Given the description of an element on the screen output the (x, y) to click on. 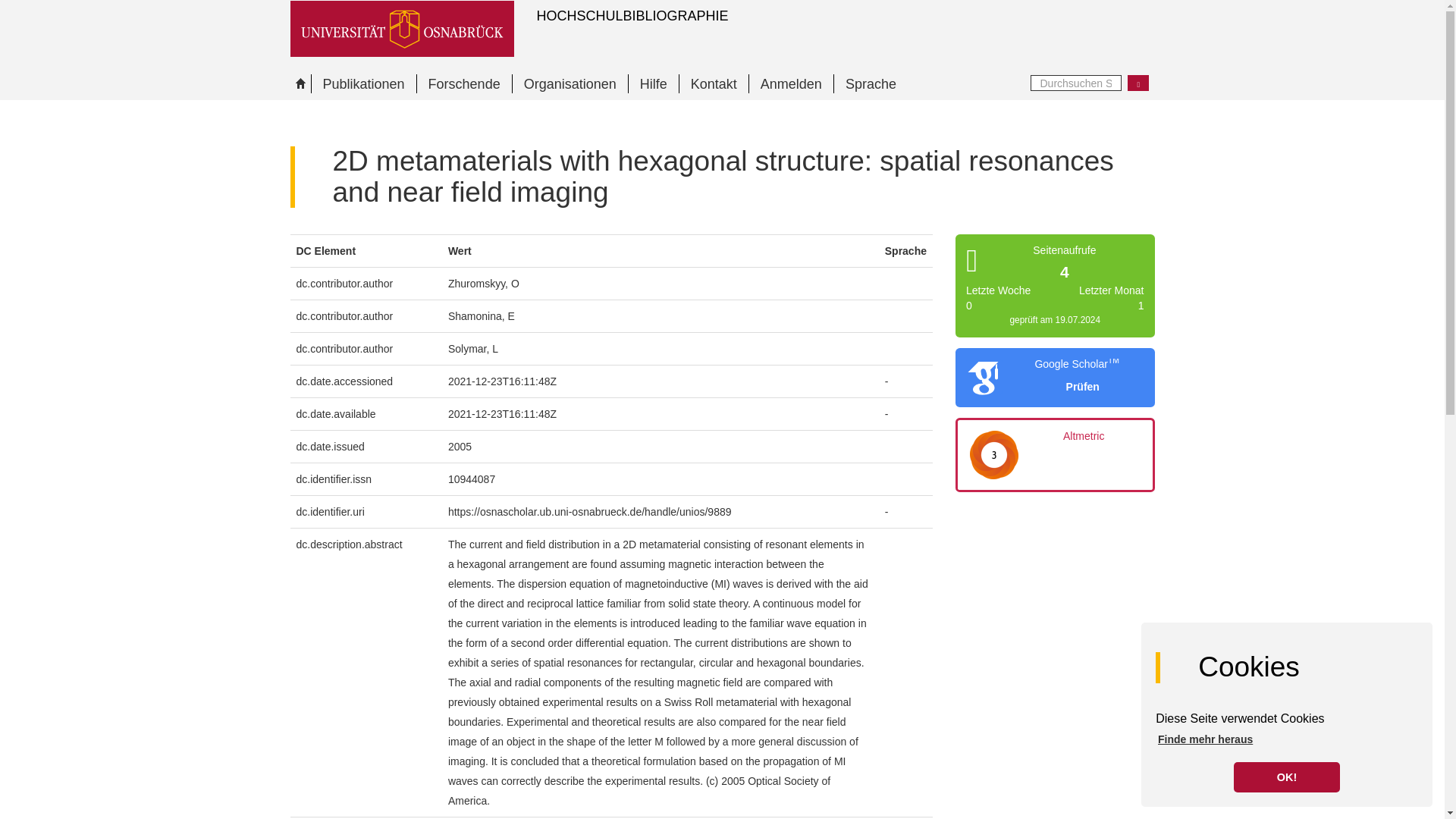
Suchen Sie den Datensatz bei Google Scholar (1076, 386)
Anmelden (790, 83)
Hilfe (652, 83)
Sprache (869, 83)
Forschende (464, 83)
Organisationen (569, 83)
Finde mehr heraus (1205, 739)
Kontakt (713, 83)
OK! (1286, 777)
Publikationen (363, 83)
